Given the description of an element on the screen output the (x, y) to click on. 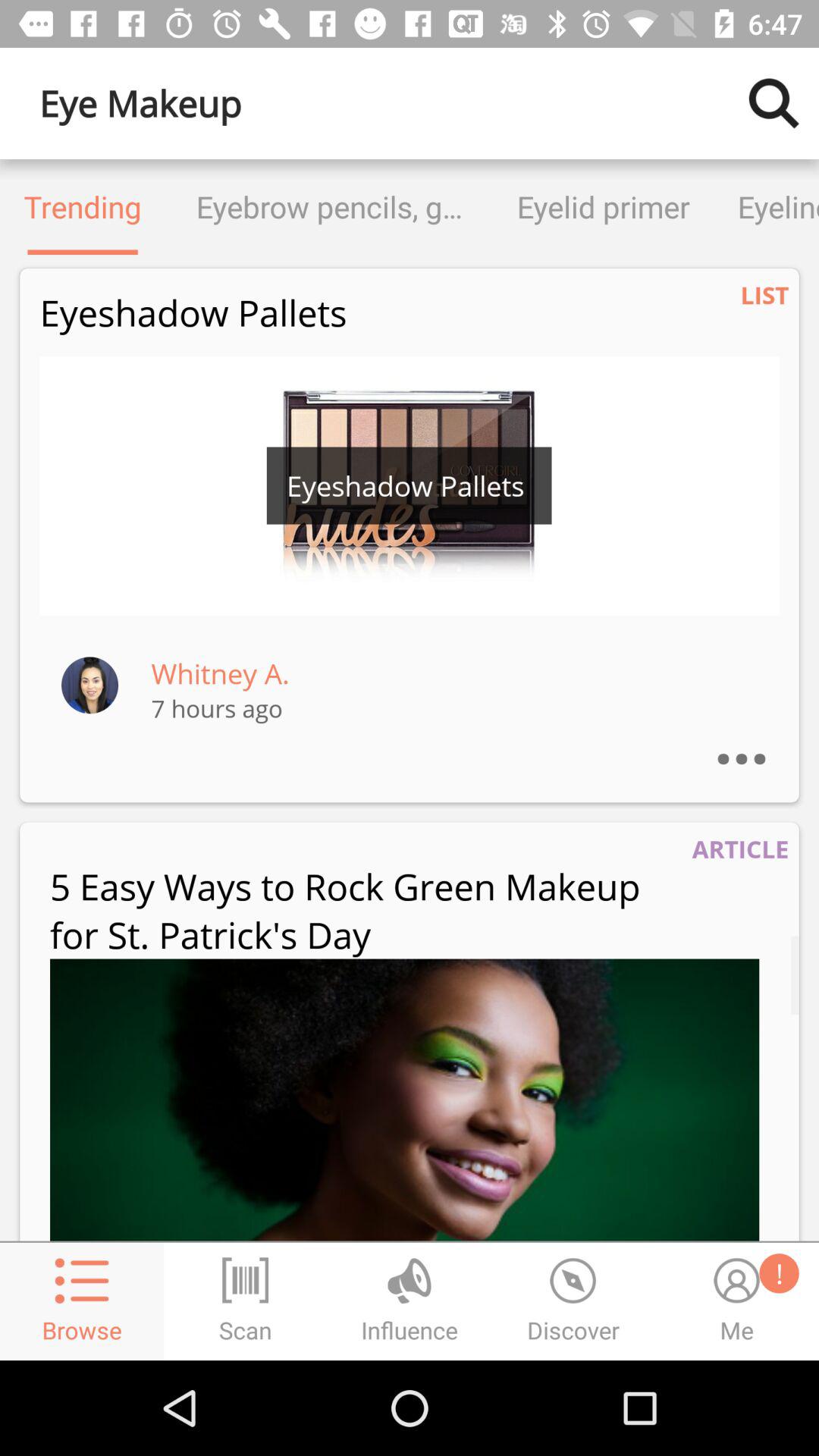
launch the item to the left of the ! (404, 1099)
